Given the description of an element on the screen output the (x, y) to click on. 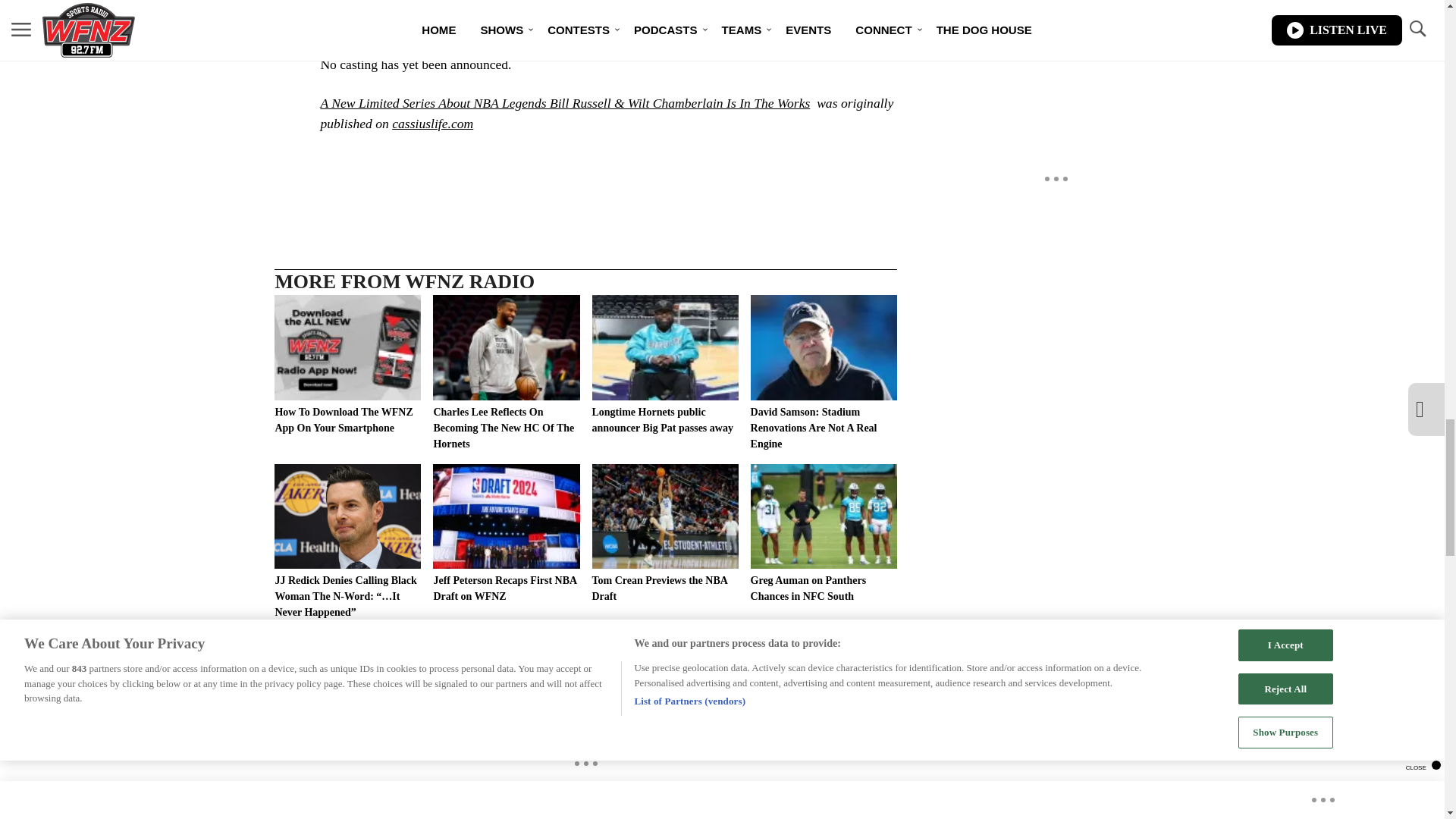
Vuukle Sharebar Widget (585, 169)
